Given the description of an element on the screen output the (x, y) to click on. 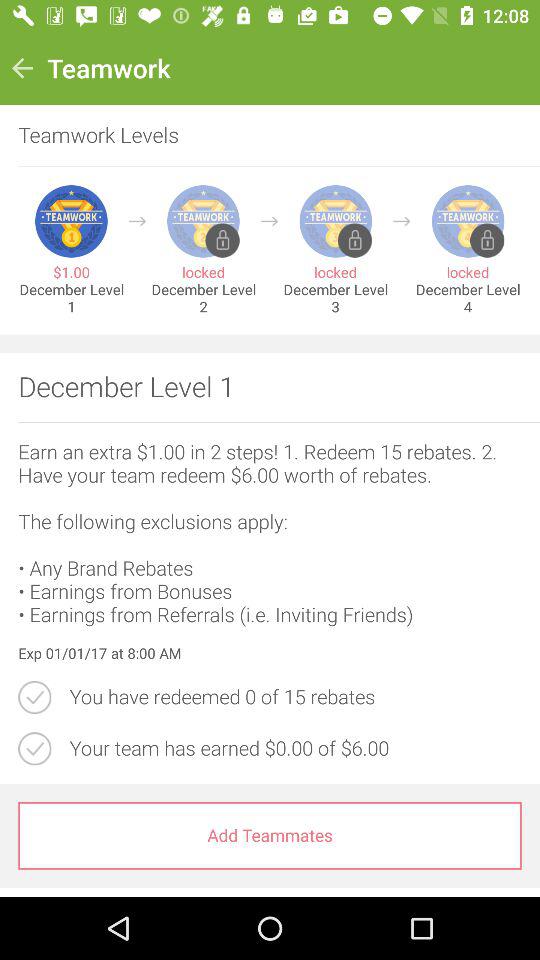
select item below the earn an extra item (269, 653)
